Given the description of an element on the screen output the (x, y) to click on. 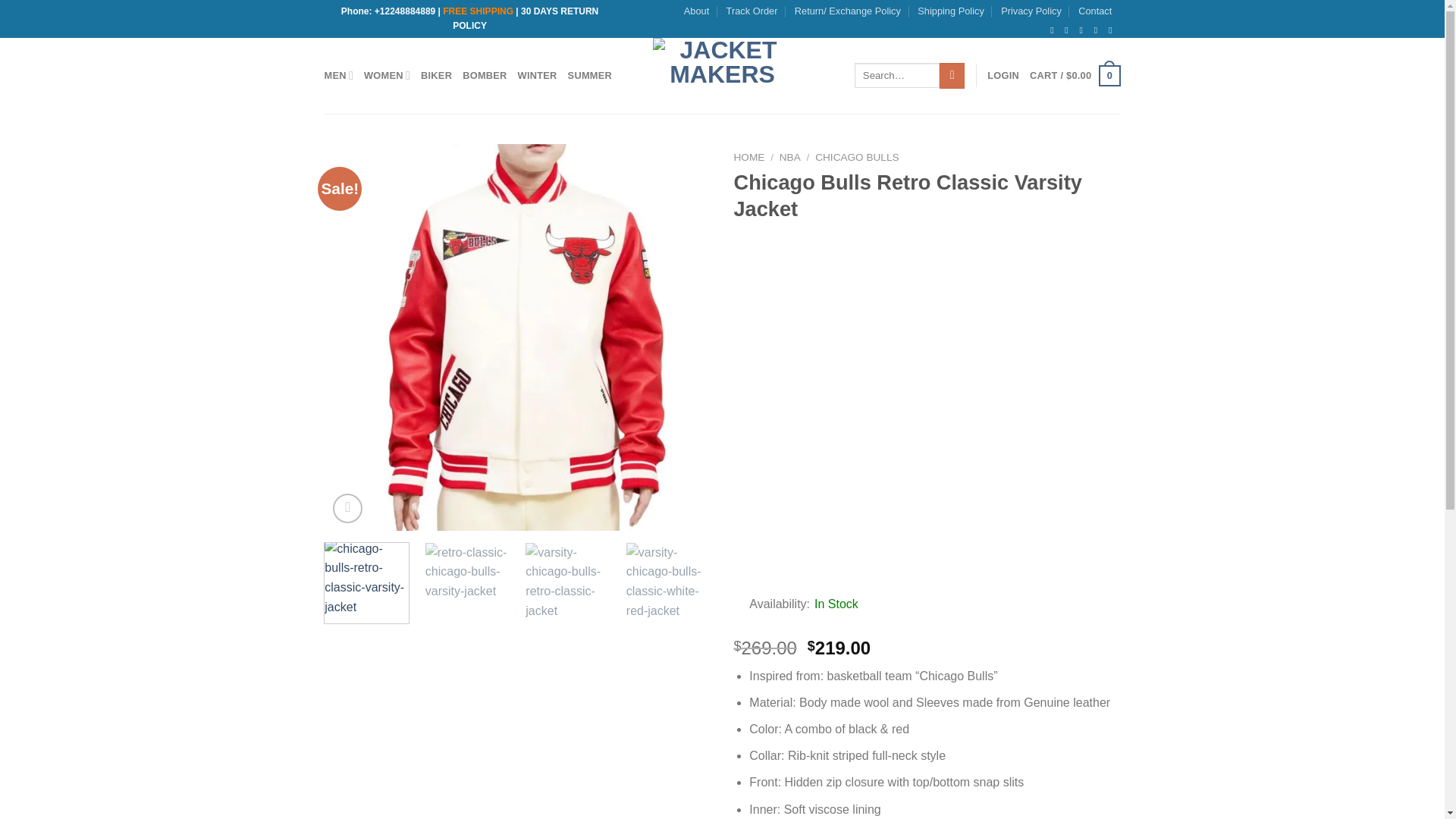
Privacy Policy (1031, 11)
Contact (1095, 11)
About (696, 11)
Cart (1074, 75)
Shipping Policy (950, 11)
MEN (338, 75)
Track Order (751, 11)
